Given the description of an element on the screen output the (x, y) to click on. 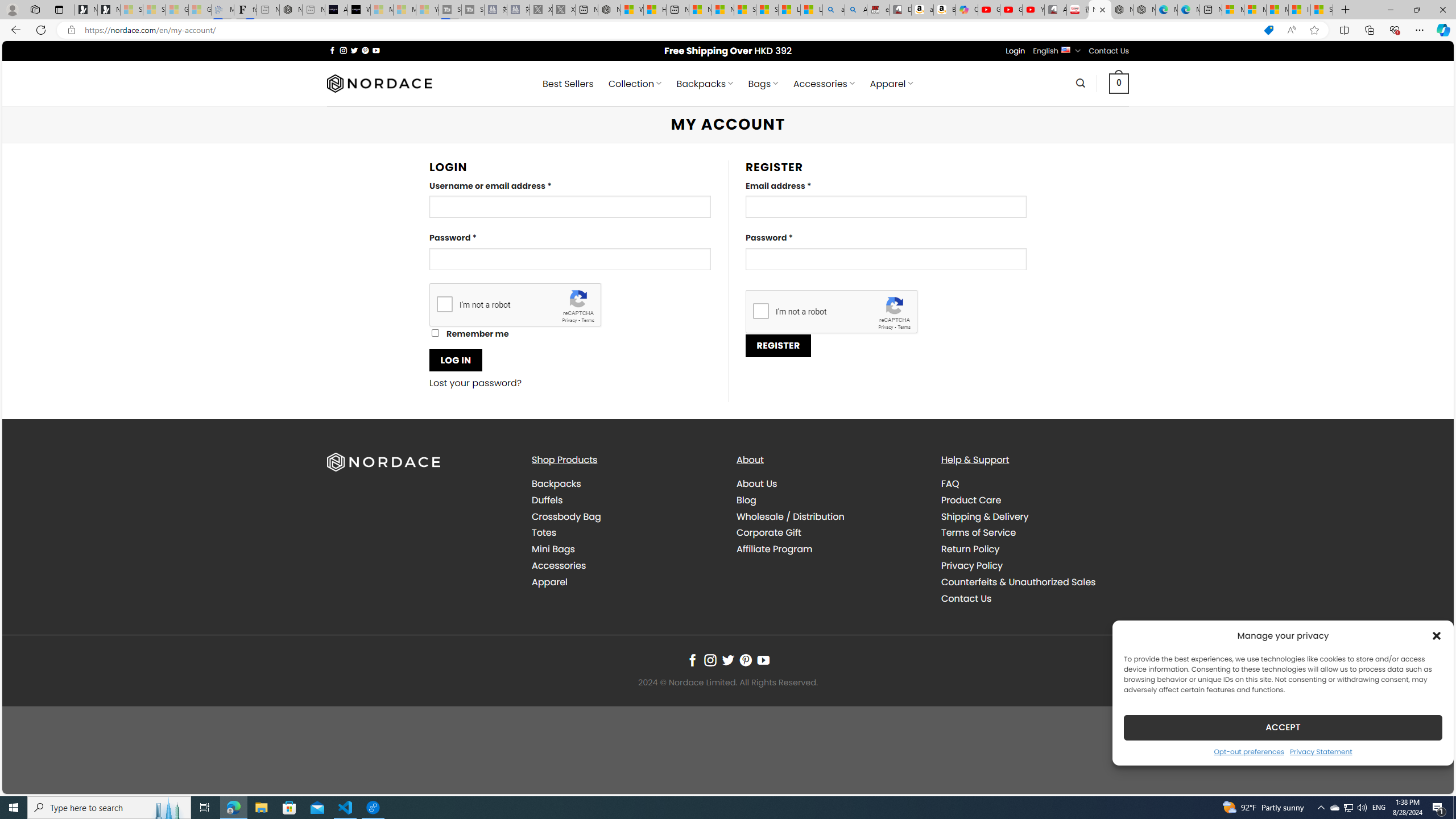
About Us (830, 483)
Terms of Service (978, 532)
Product Care (1034, 499)
Privacy Policy (1034, 565)
Privacy Statement (1321, 750)
AI Voice Changer for PC and Mac - Voice.ai (336, 9)
Totes (543, 532)
